Given the description of an element on the screen output the (x, y) to click on. 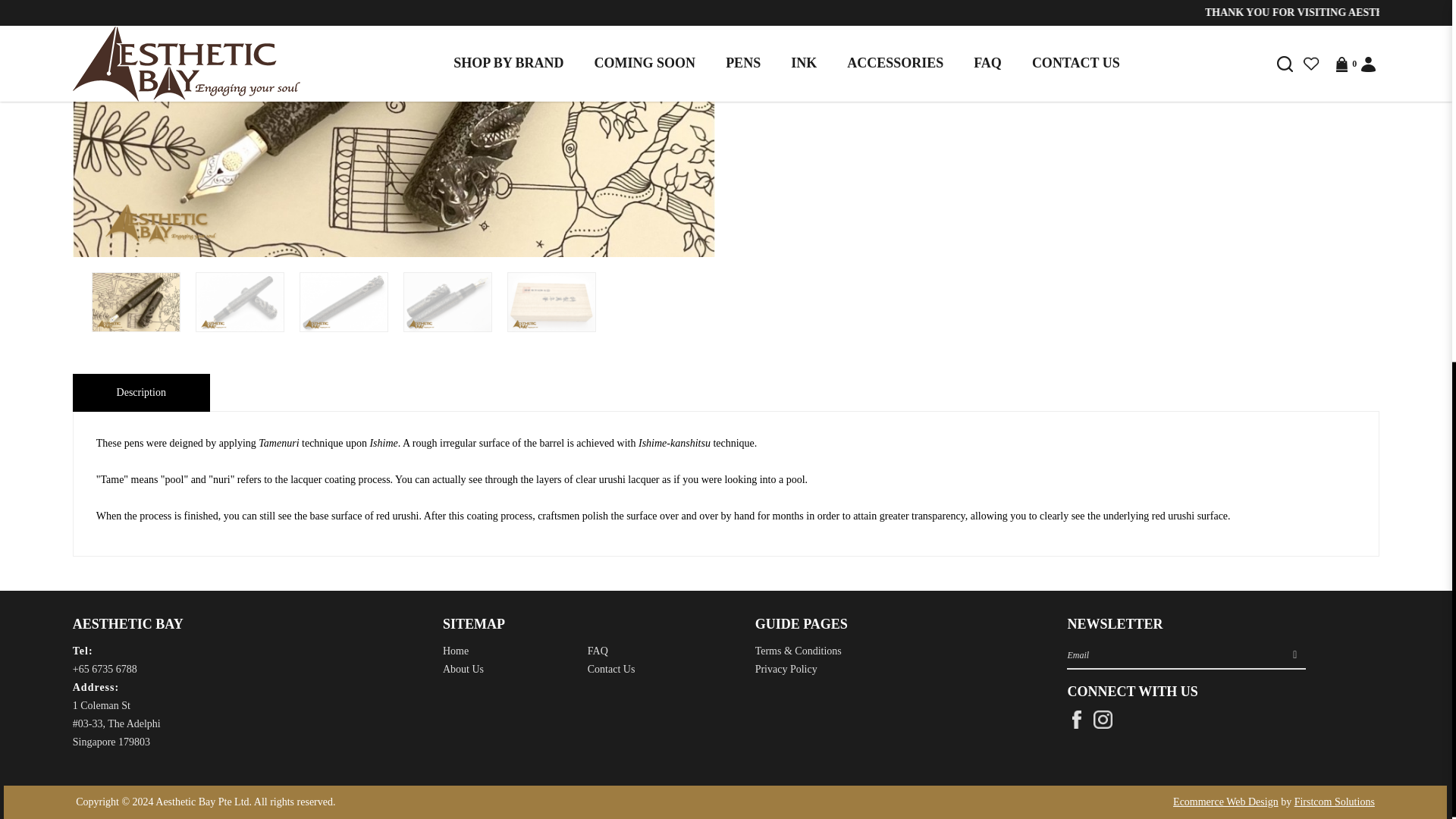
Pens (136, 301)
Pens (551, 301)
Pens (343, 301)
Facebook (1076, 719)
Pens (239, 301)
Pens (448, 301)
Instagram (1102, 719)
